Given the description of an element on the screen output the (x, y) to click on. 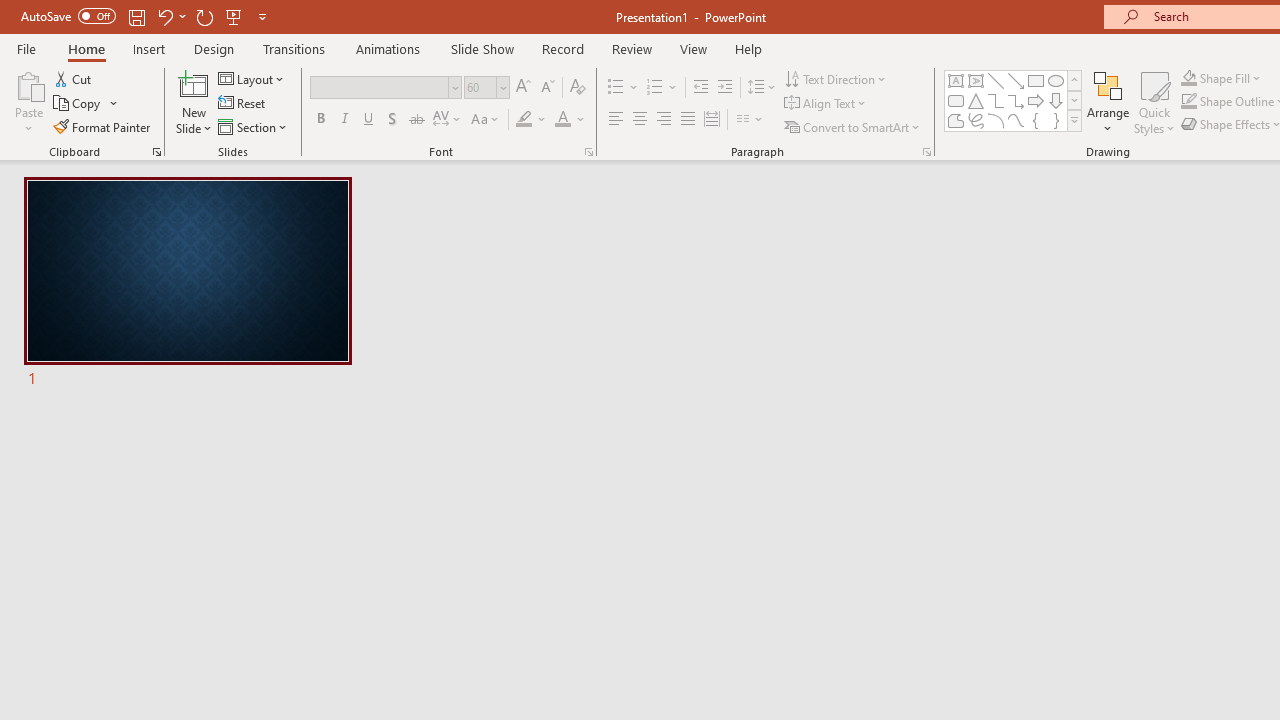
Isosceles Triangle (975, 100)
Freeform: Shape (955, 120)
Paste (28, 84)
Slide (187, 284)
Reset (243, 103)
Font (379, 87)
Copy (85, 103)
Connector: Elbow Arrow (1016, 100)
Arrow: Right (1035, 100)
Center (639, 119)
Vertical Text Box (975, 80)
Layout (252, 78)
